Given the description of an element on the screen output the (x, y) to click on. 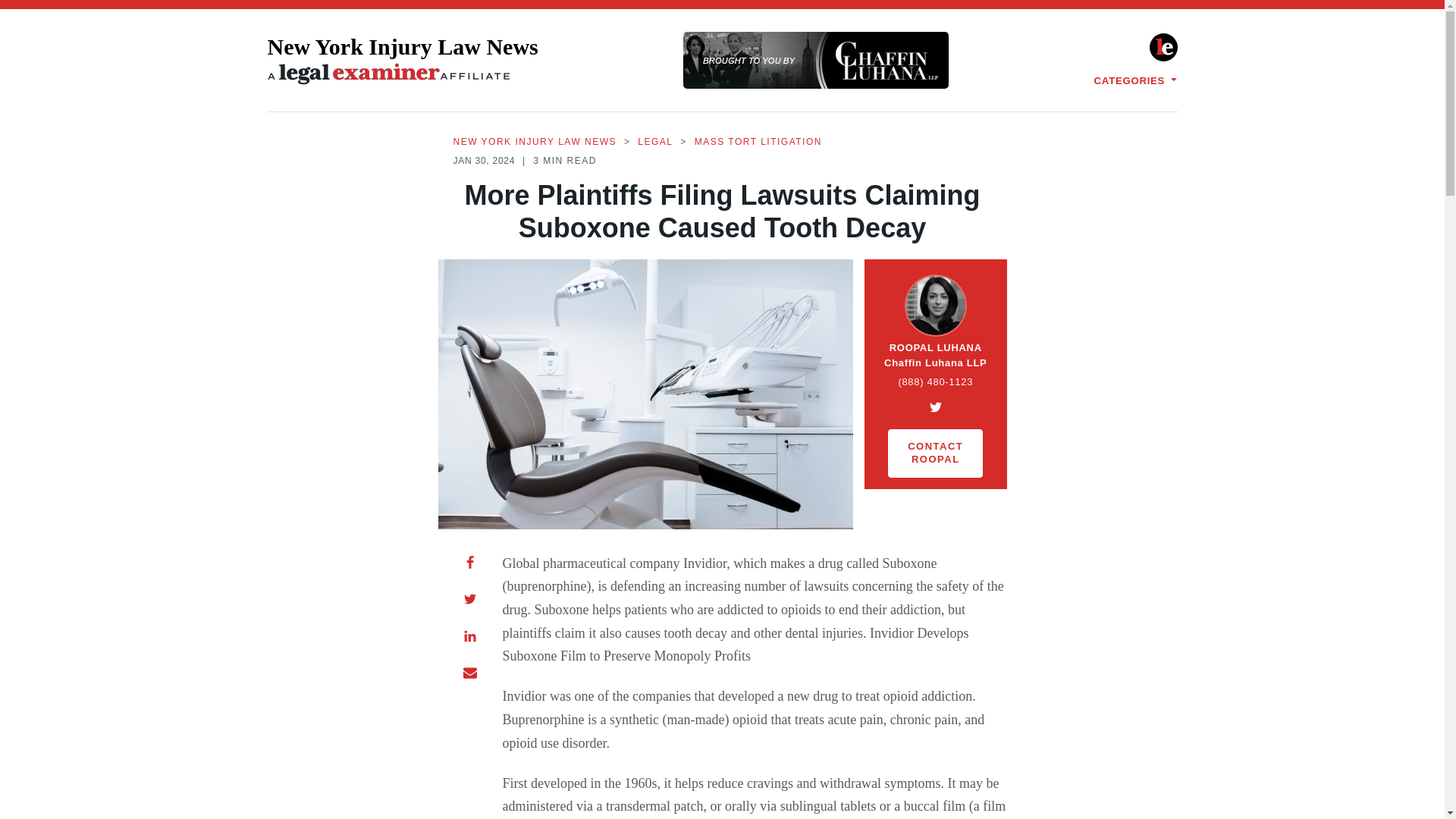
ROOPAL LUHANA (935, 348)
LEGAL (654, 142)
MASS TORT LITIGATION (758, 142)
New York Injury Law News (401, 60)
Brought to you by Chaffin Luhana LLP (815, 59)
A Legal Examiner Affiliate (387, 74)
NEW YORK INJURY LAW NEWS (534, 142)
